Given the description of an element on the screen output the (x, y) to click on. 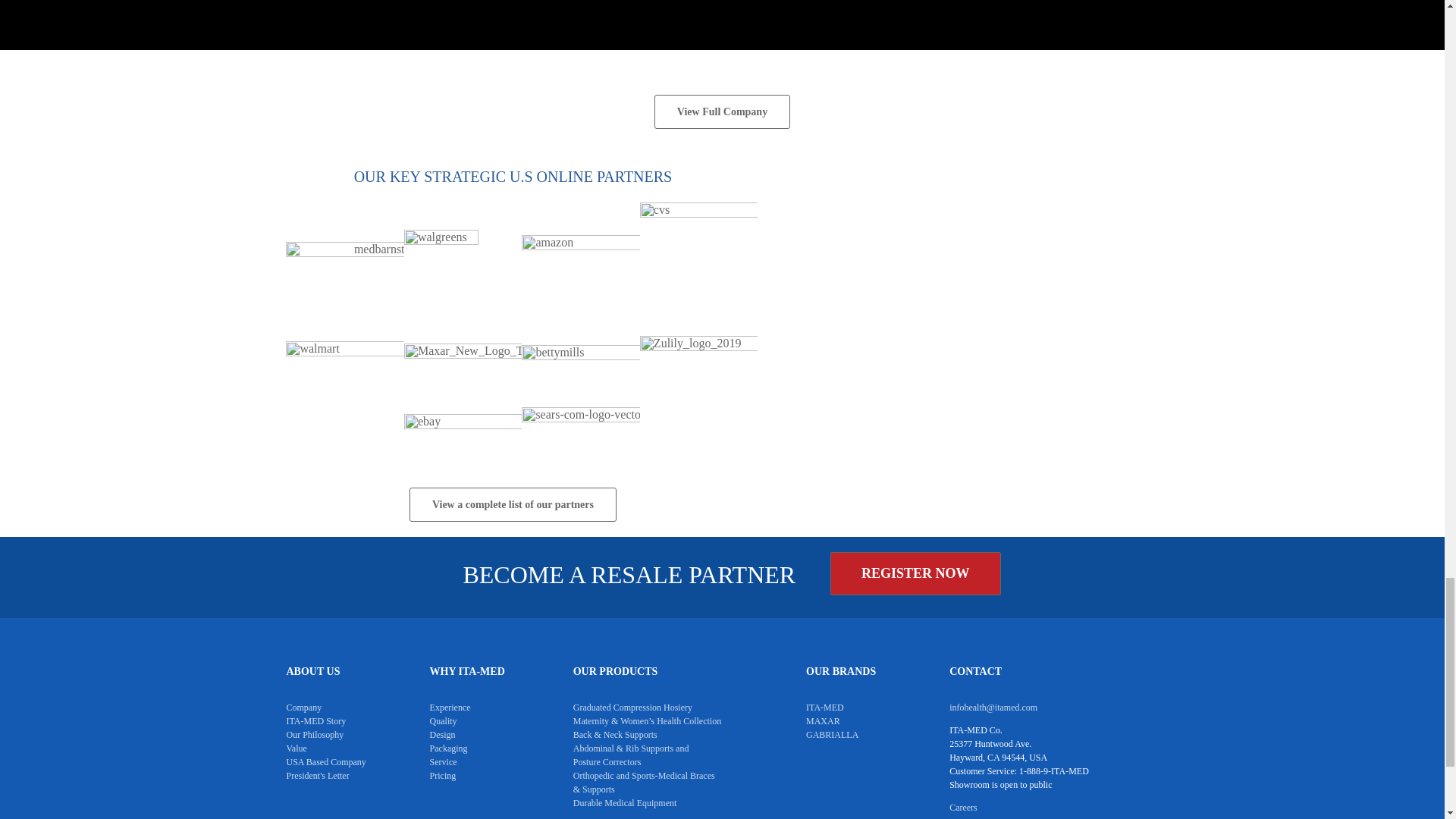
walgreens (441, 261)
amazon (580, 262)
medbarnstore (344, 261)
